Given the description of an element on the screen output the (x, y) to click on. 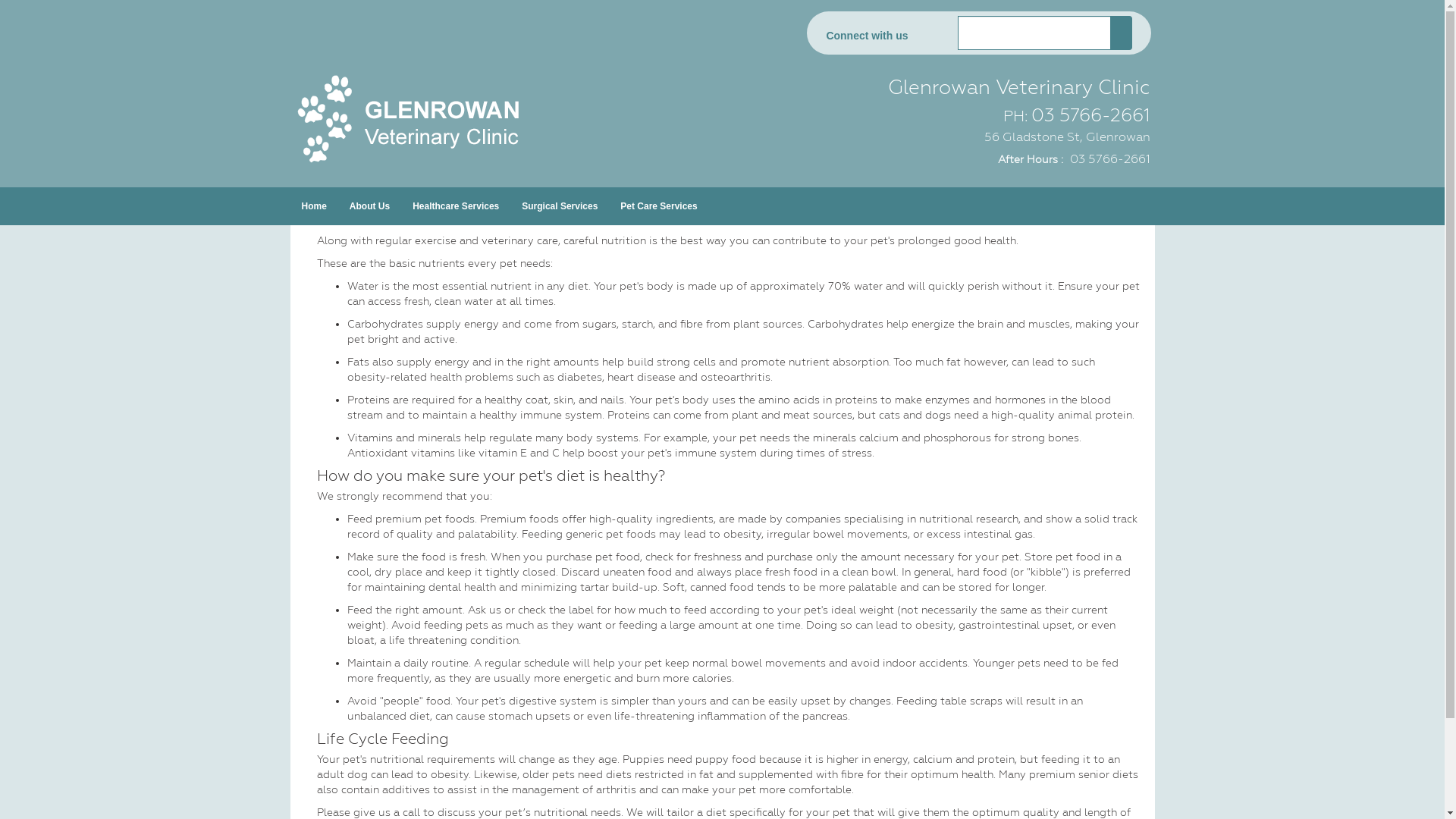
About Us Element type: text (369, 206)
Pet Care Services Element type: text (658, 206)
03 5766-2661 Element type: text (1108, 158)
Surgical Services Element type: text (559, 206)
03 5766-2661 Element type: text (1090, 114)
Home Element type: text (313, 206)
Healthcare Services Element type: text (455, 206)
